Given the description of an element on the screen output the (x, y) to click on. 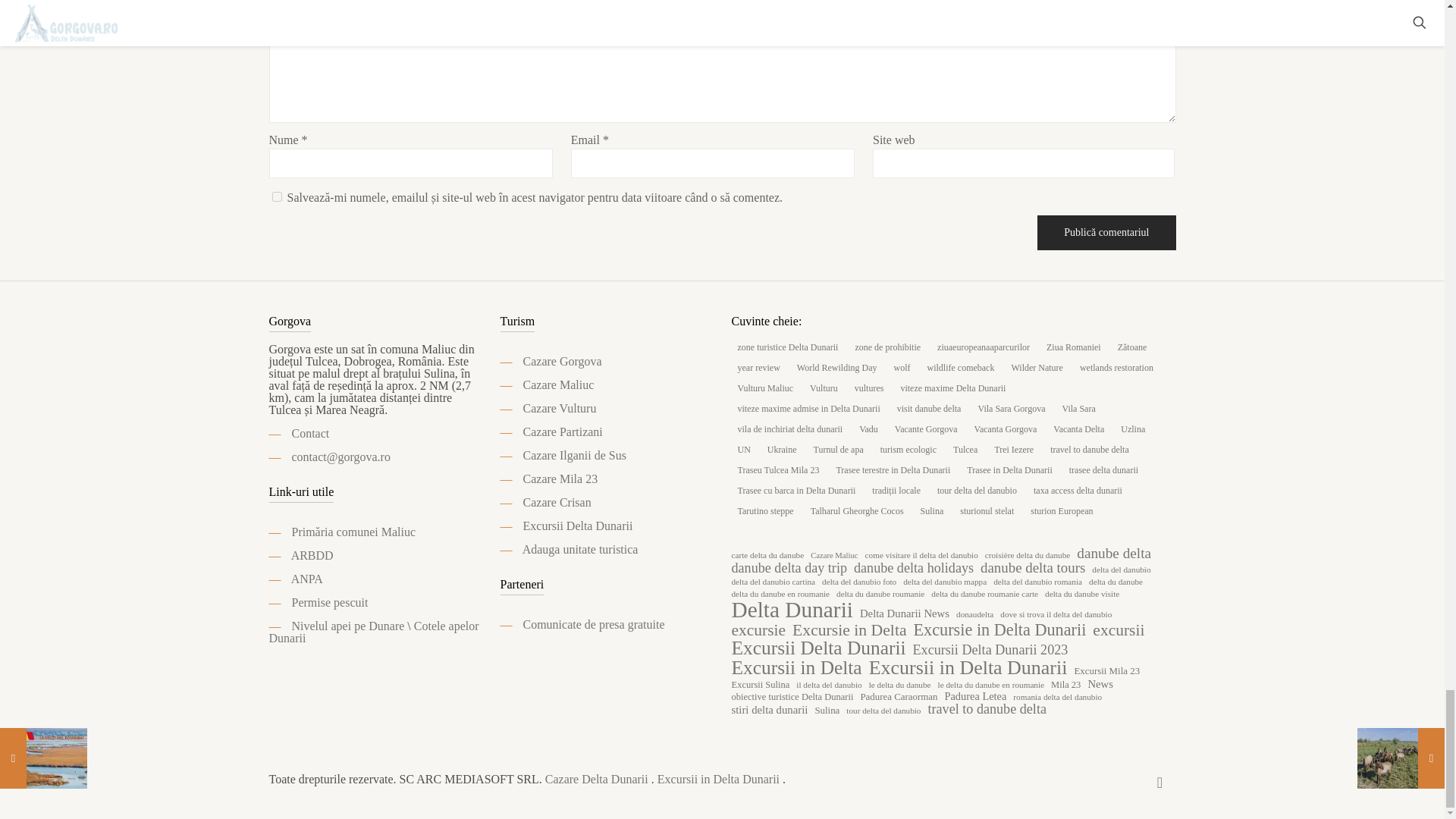
Facebook (1042, 779)
Tumblr (1106, 779)
yes (275, 196)
Instagram (1091, 779)
YouTube (1074, 779)
RSS (1123, 779)
